Given the description of an element on the screen output the (x, y) to click on. 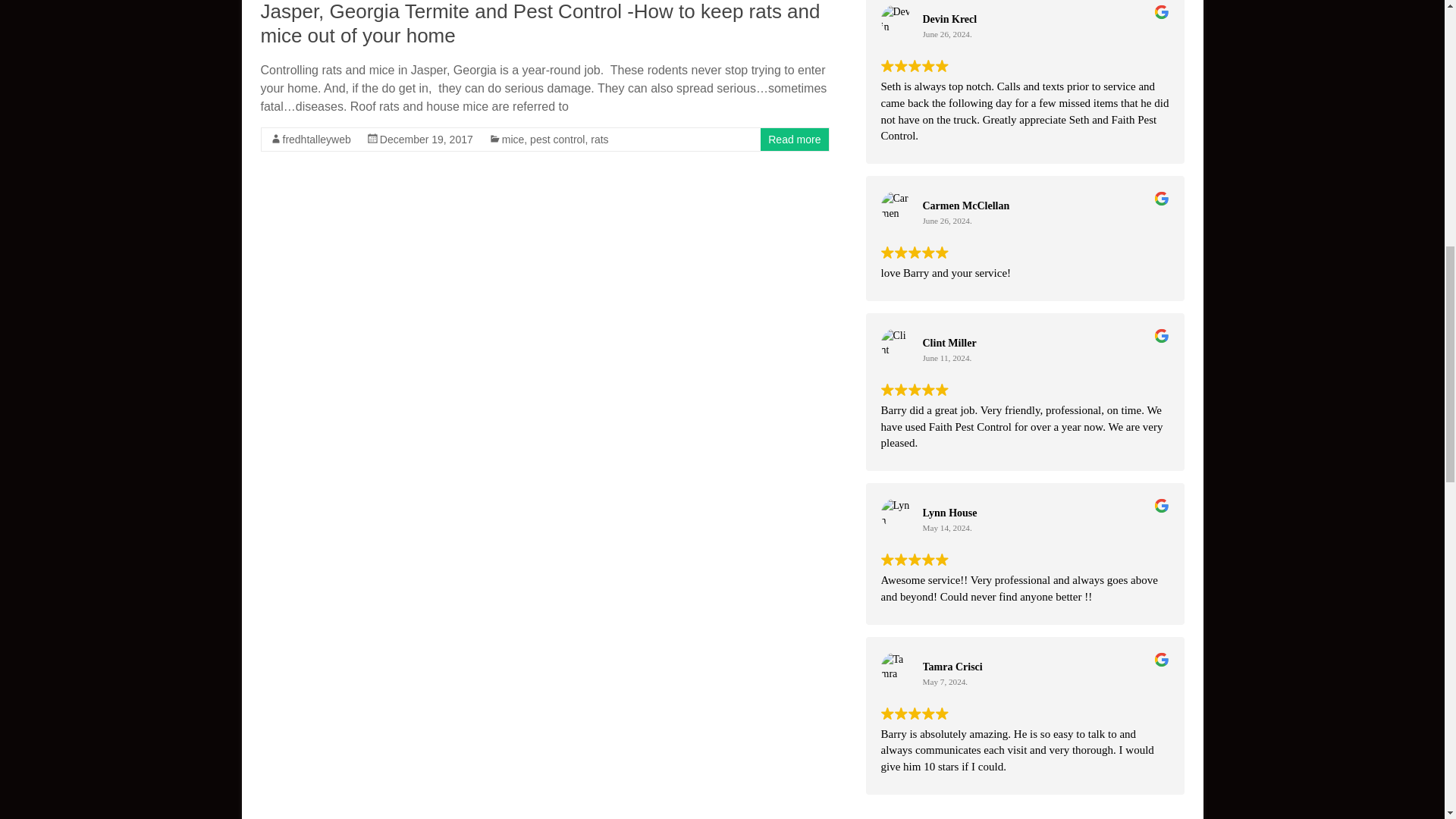
Read more (794, 139)
fredhtalleyweb (316, 139)
pest control (557, 139)
6:27 pm (426, 139)
mice (513, 139)
December 19, 2017 (426, 139)
rats (599, 139)
